Given the description of an element on the screen output the (x, y) to click on. 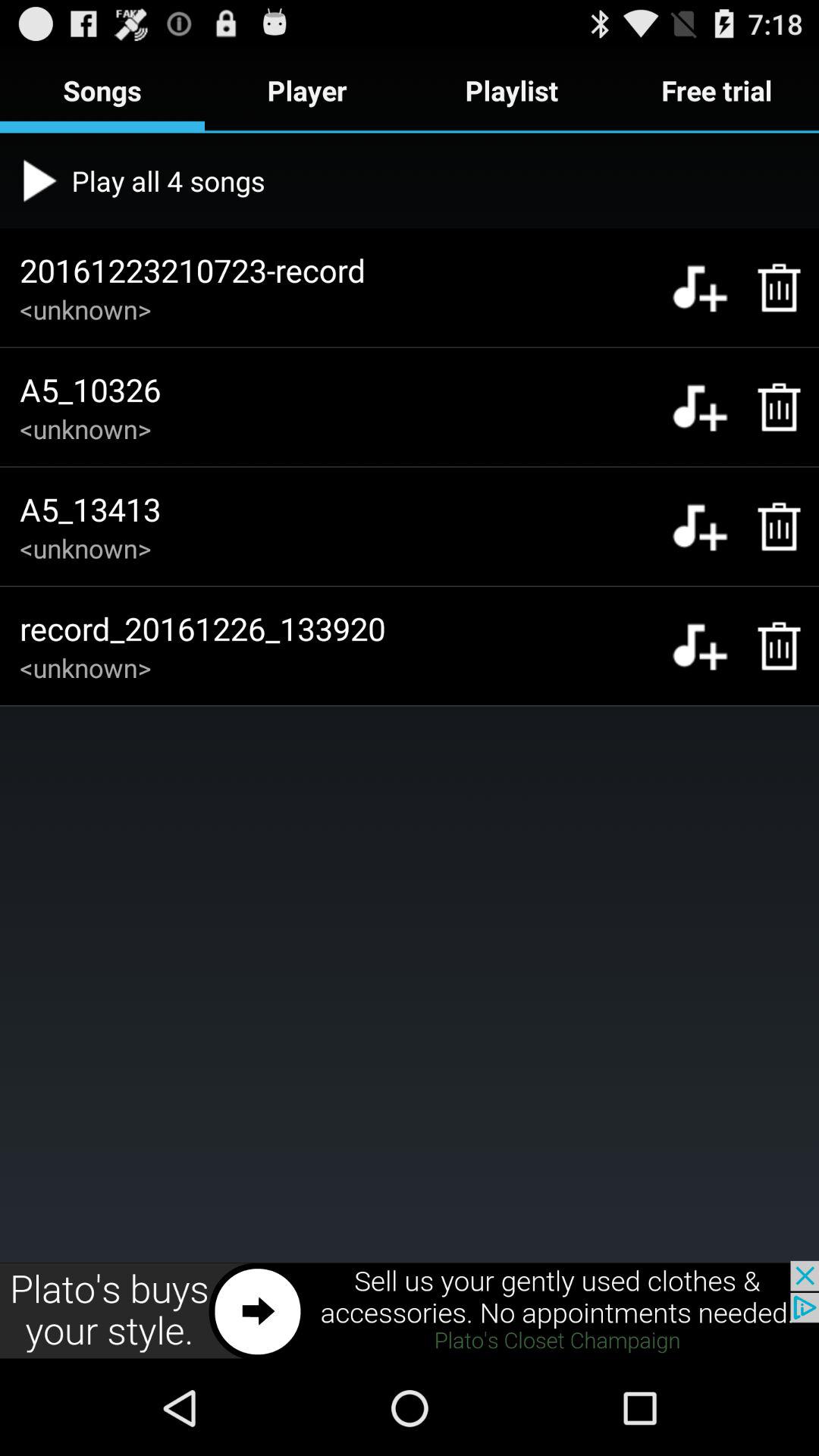
play music (699, 287)
